Given the description of an element on the screen output the (x, y) to click on. 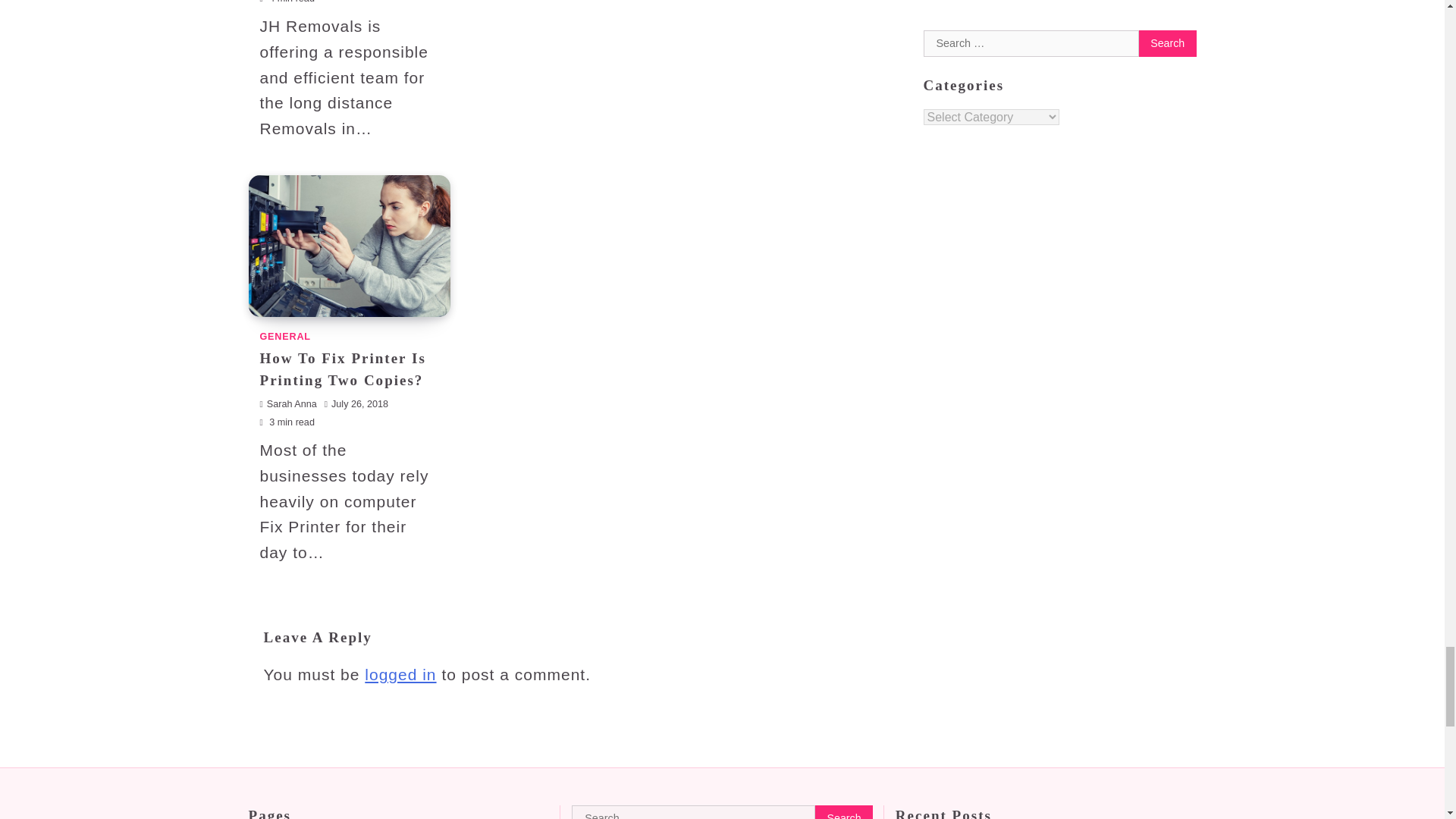
Search (843, 812)
GENERAL (284, 336)
Search (843, 812)
